Given the description of an element on the screen output the (x, y) to click on. 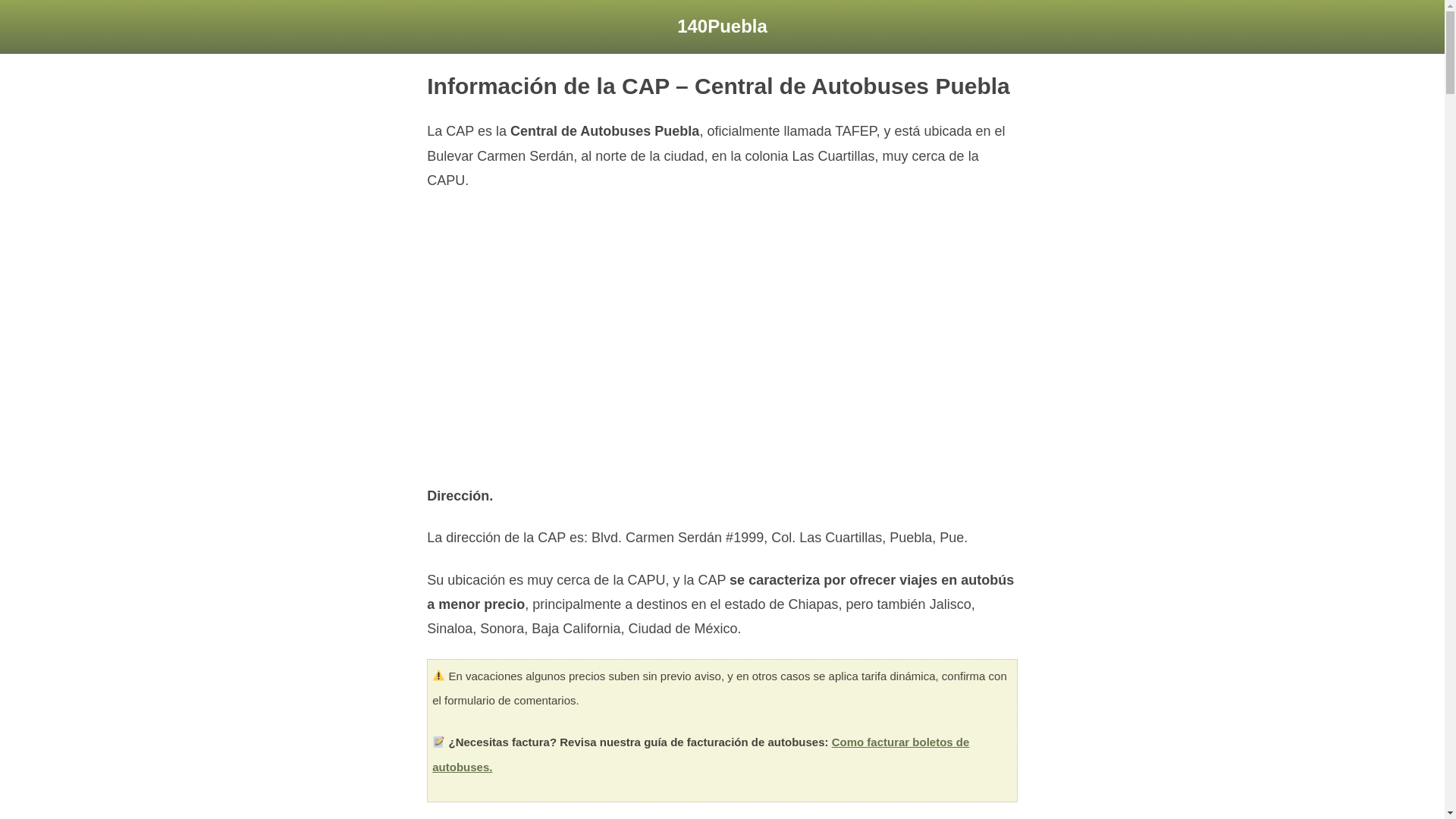
140Puebla Element type: text (722, 25)
Saltar al contenido Element type: text (11, 31)
Como facturar boletos de autobuses. Element type: text (700, 753)
